Given the description of an element on the screen output the (x, y) to click on. 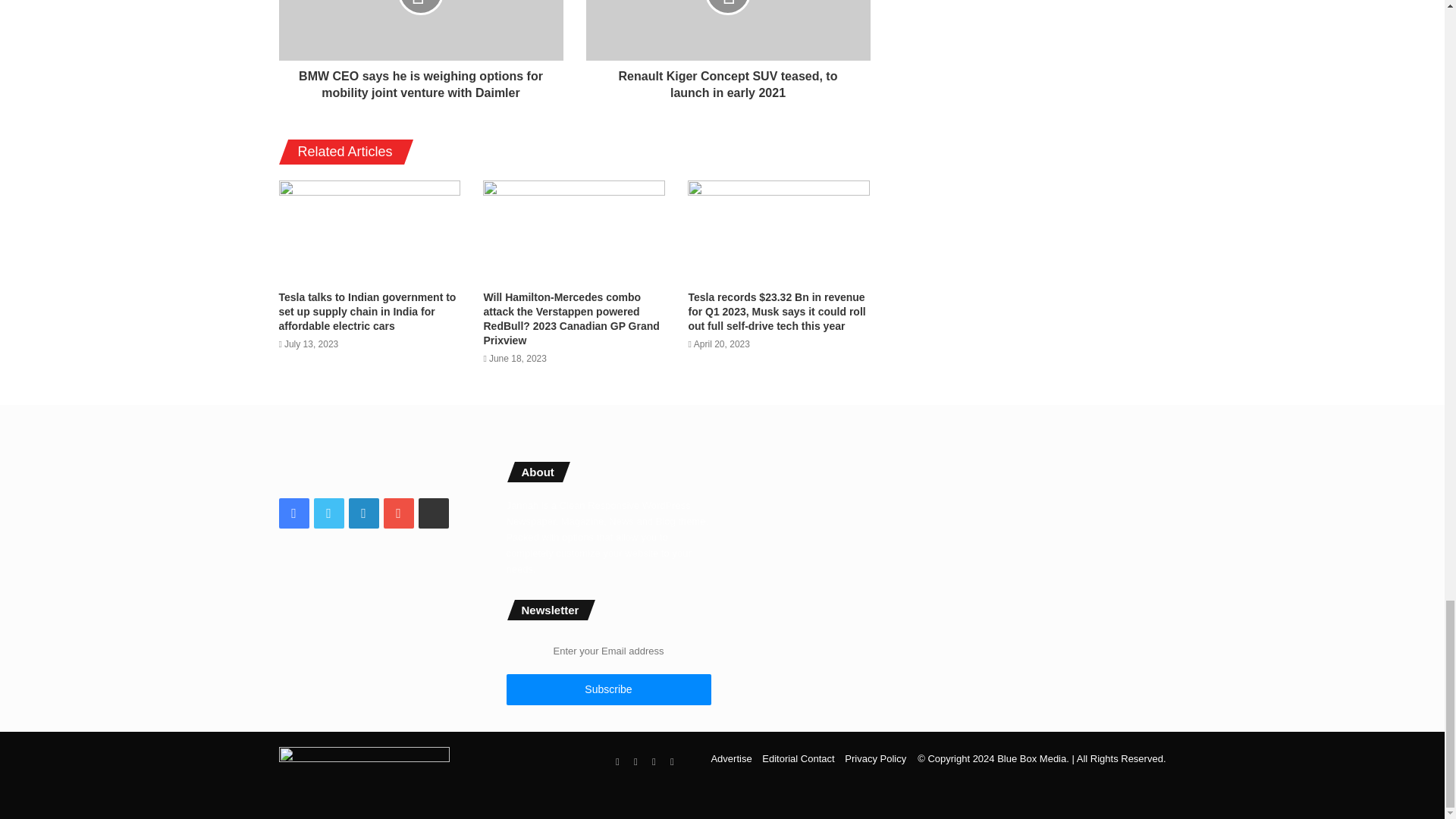
Subscribe (608, 689)
